Given the description of an element on the screen output the (x, y) to click on. 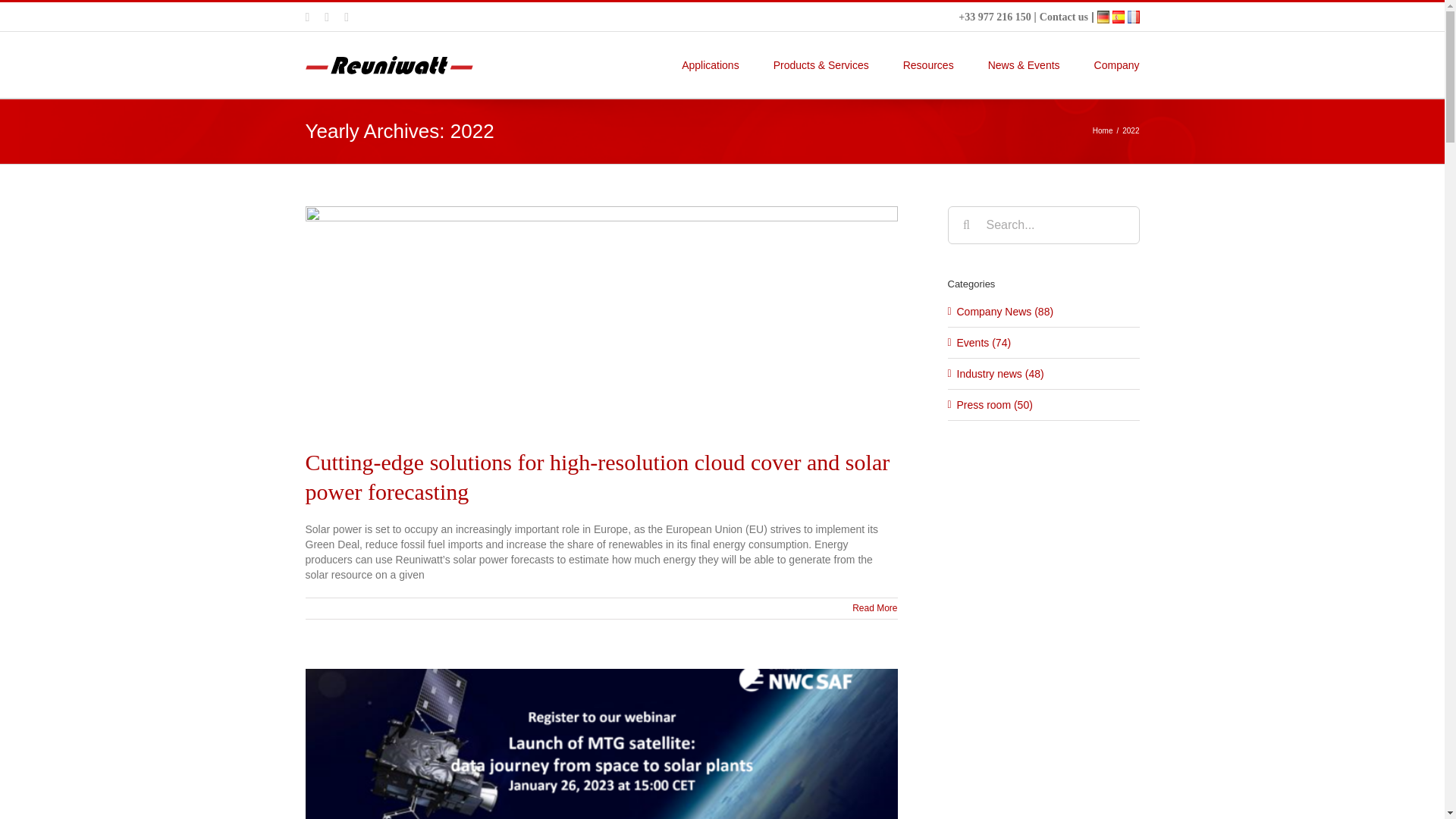
Applications (710, 63)
Es (1118, 16)
Contact us (1063, 16)
Fr (1133, 16)
De (1103, 16)
